Given the description of an element on the screen output the (x, y) to click on. 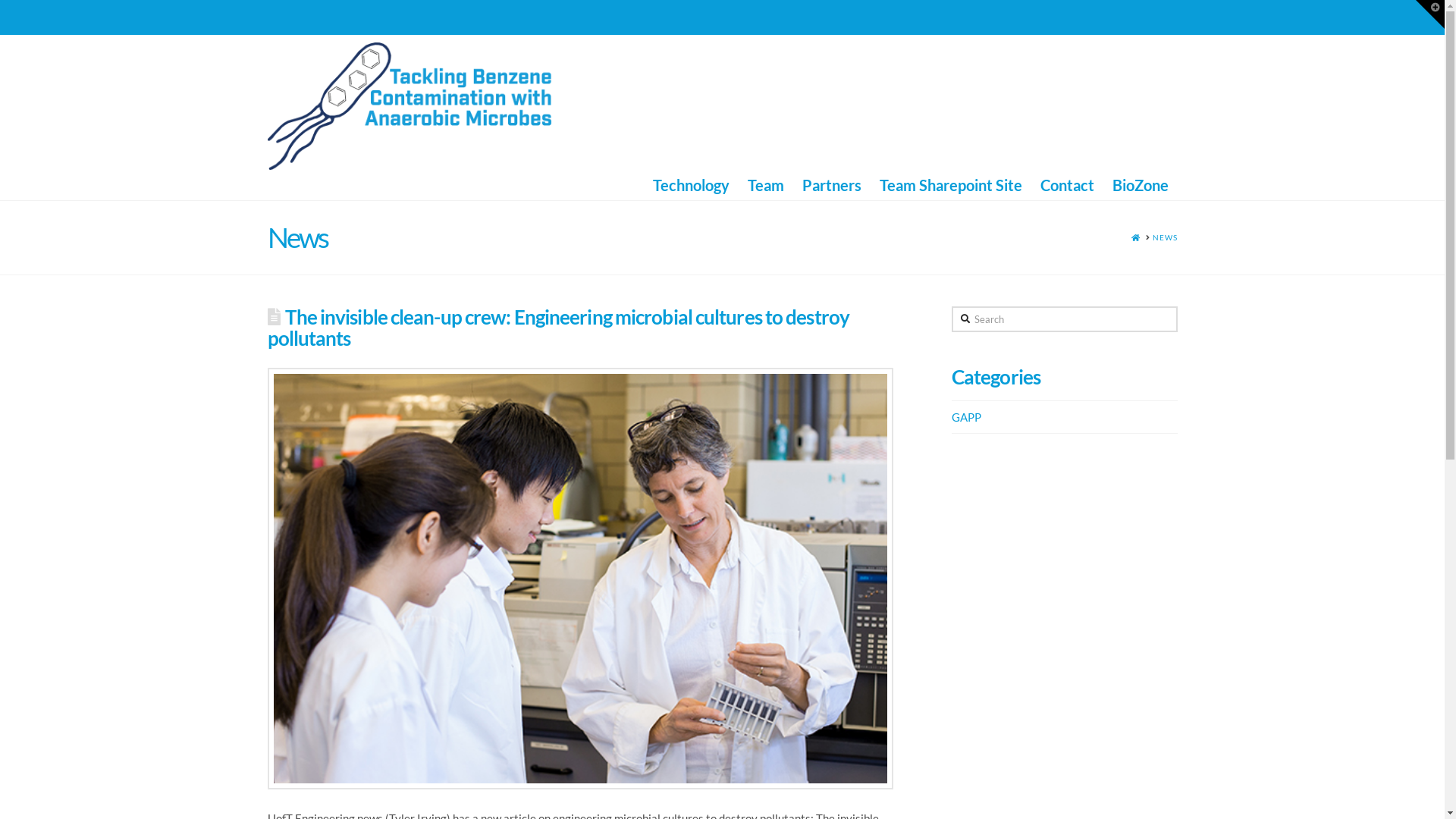
Technology Element type: text (690, 184)
Toggle the Widgetbar Element type: text (1429, 14)
Partners Element type: text (831, 184)
HOME Element type: text (1135, 237)
GAPP Element type: text (966, 417)
Team Element type: text (765, 184)
NEWS Element type: text (1164, 237)
Team Sharepoint Site Element type: text (950, 184)
BioZone Element type: text (1139, 184)
Contact Element type: text (1067, 184)
